Given the description of an element on the screen output the (x, y) to click on. 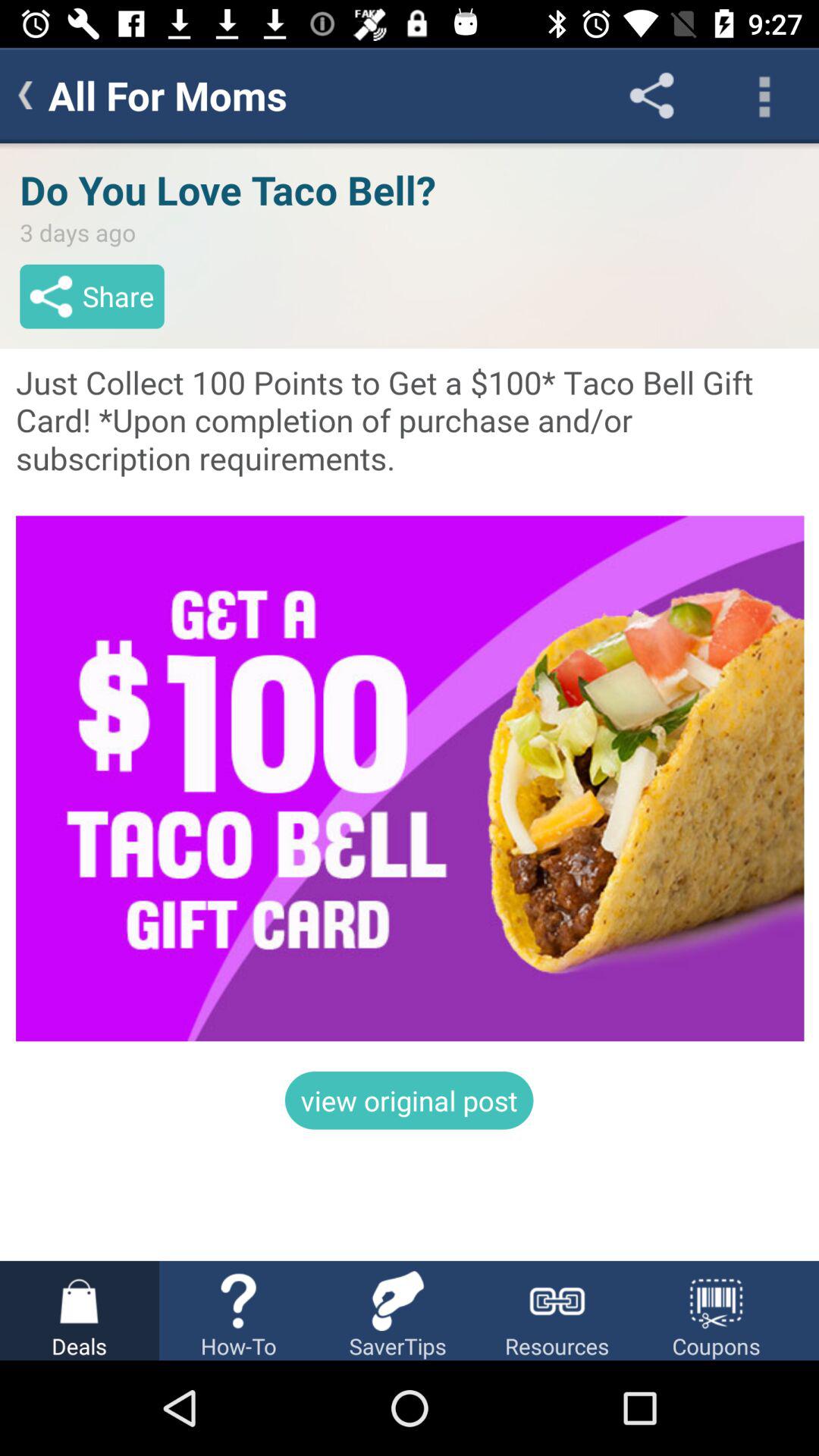
open advertisement for taco bell (409, 701)
